Given the description of an element on the screen output the (x, y) to click on. 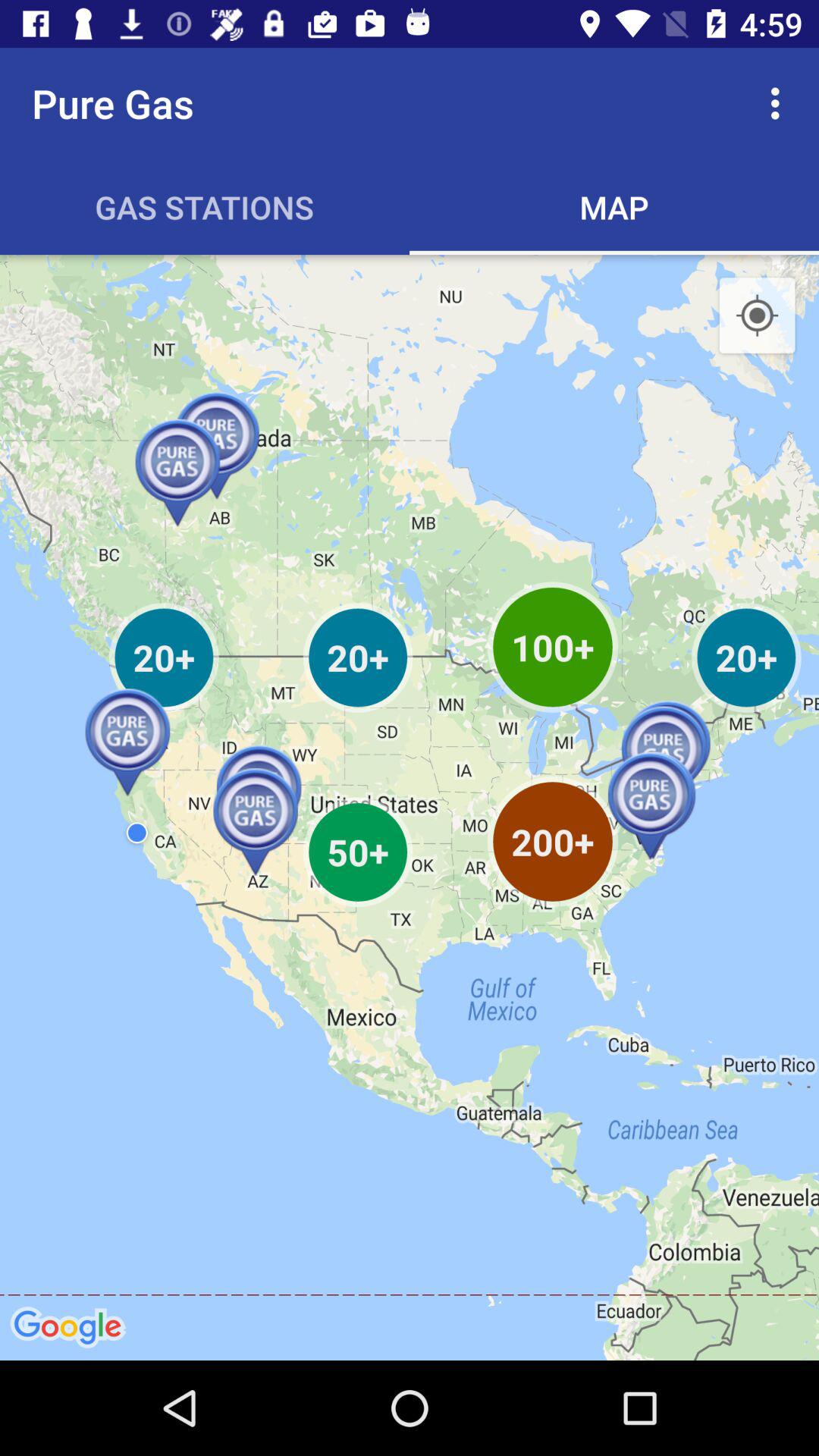
tap the item to the right of pure gas (779, 103)
